Given the description of an element on the screen output the (x, y) to click on. 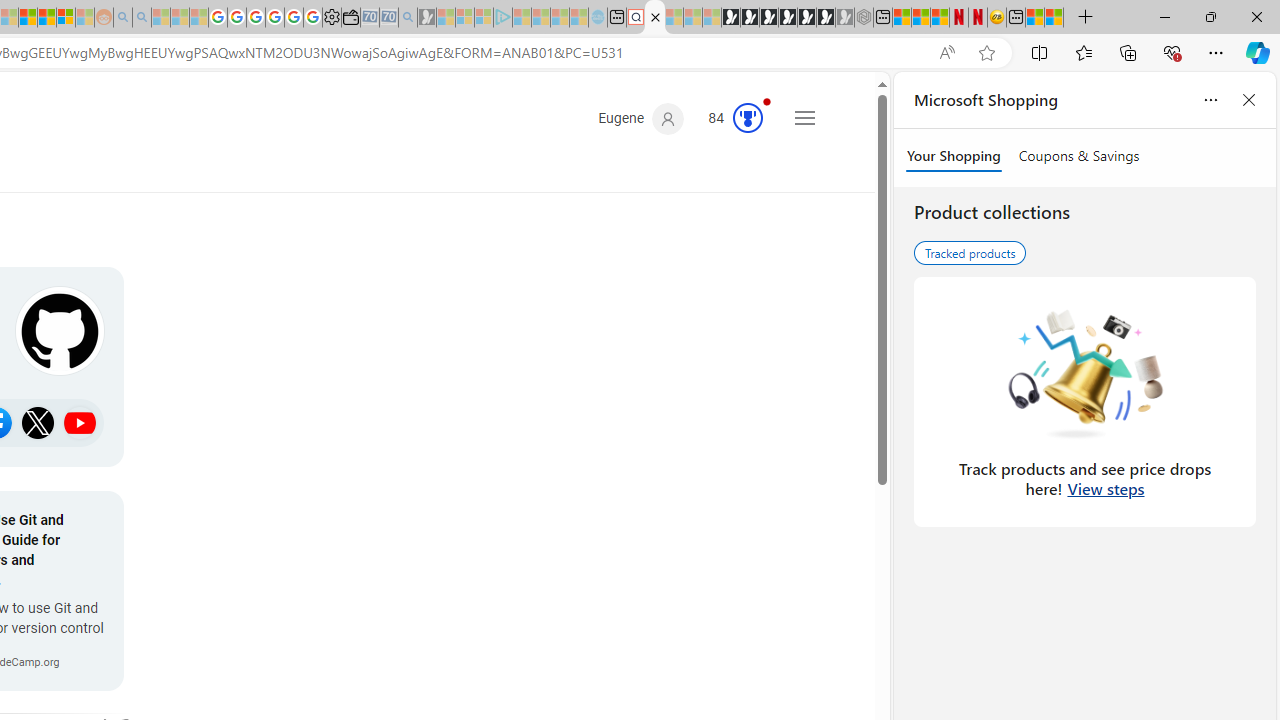
Microsoft Rewards 84 (728, 119)
